Given the description of an element on the screen output the (x, y) to click on. 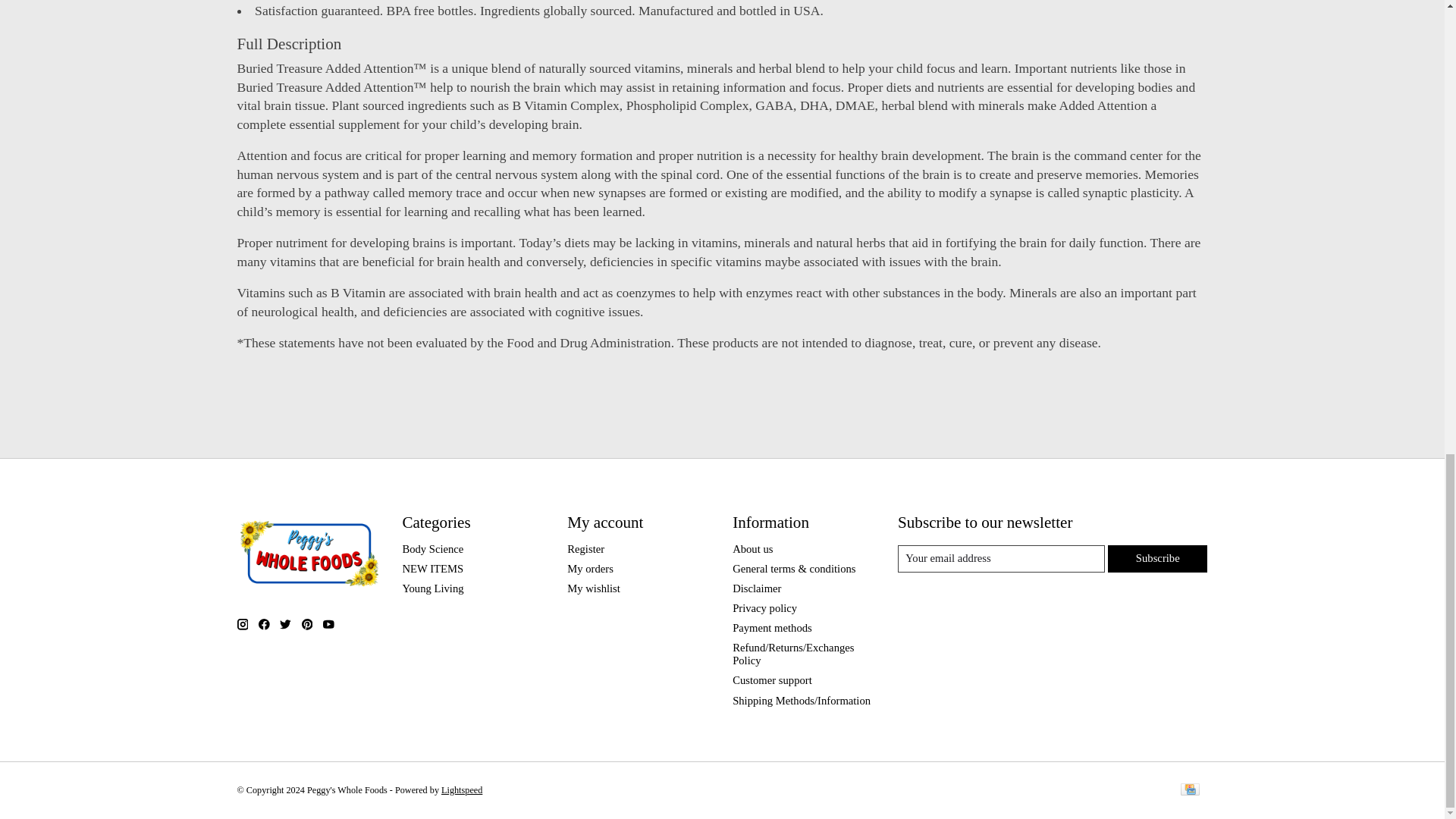
My wishlist (593, 588)
My orders (589, 568)
Disclaimer (756, 588)
Credit Card (1188, 790)
Register (585, 548)
Payment methods (772, 627)
Customer support (772, 680)
Privacy policy (764, 607)
Lightspeed (461, 789)
About us (752, 548)
